Given the description of an element on the screen output the (x, y) to click on. 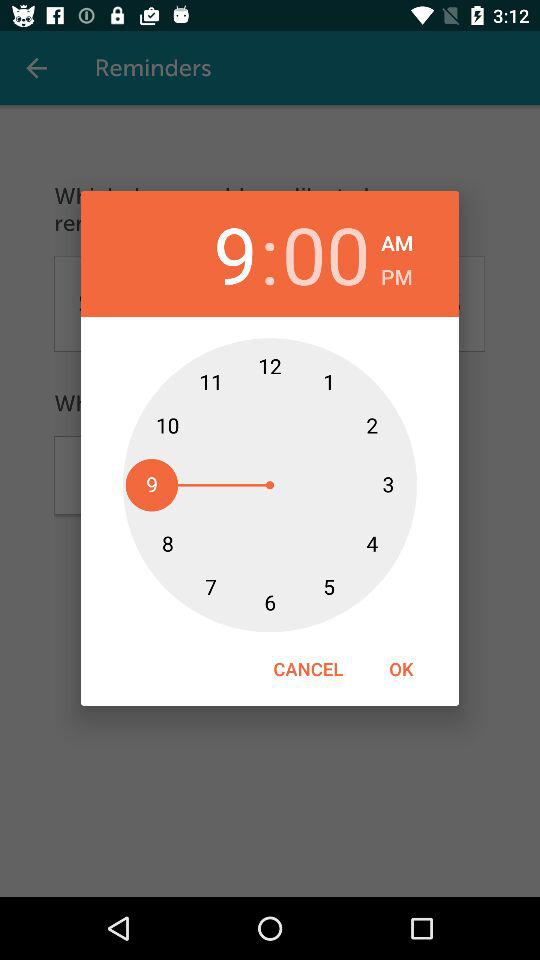
turn off item to the left of the : (213, 253)
